Given the description of an element on the screen output the (x, y) to click on. 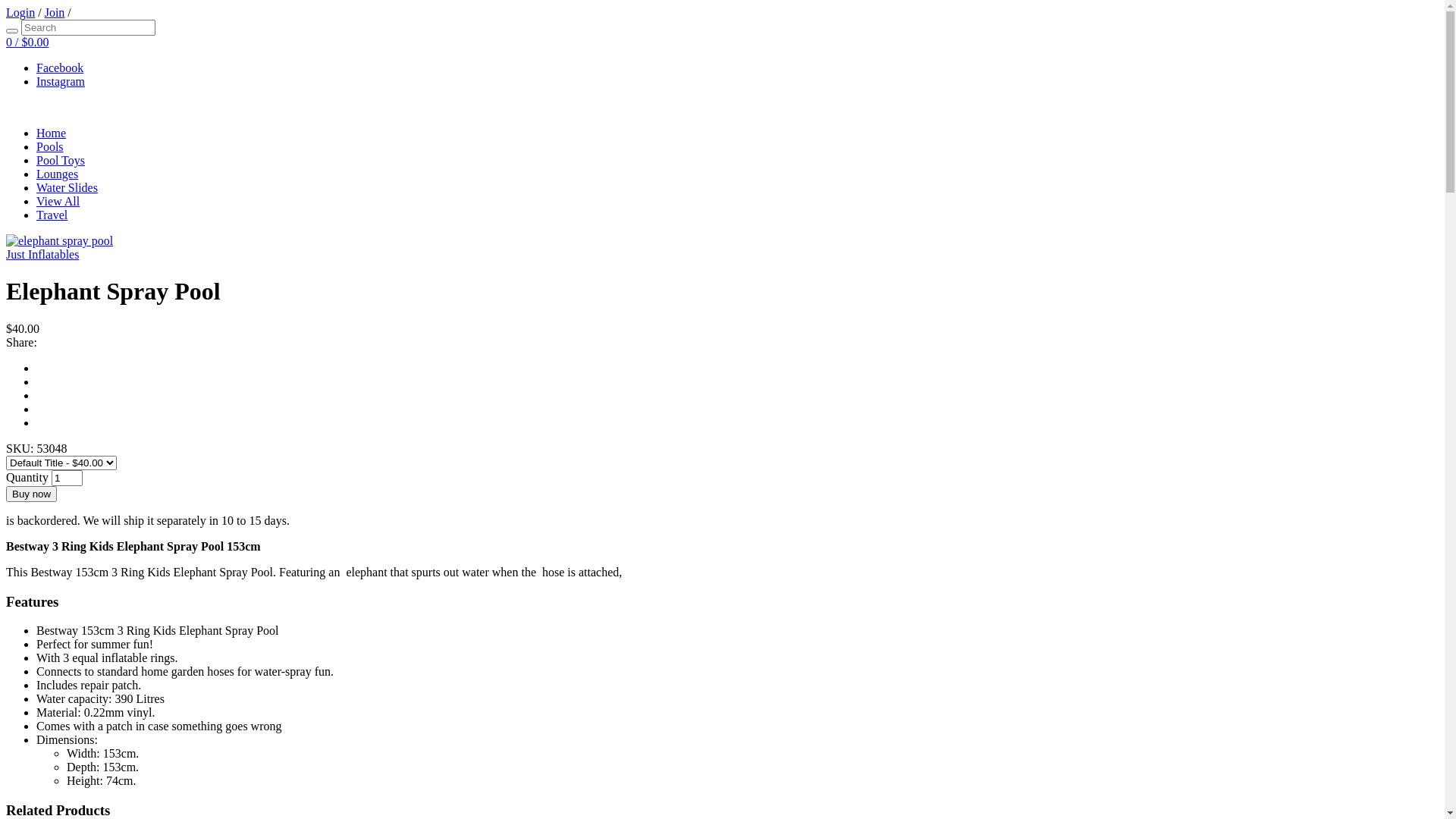
Home Element type: text (50, 132)
Instagram Element type: text (60, 81)
View All Element type: text (57, 200)
Buy now Element type: text (31, 494)
Lounges Element type: text (57, 173)
Facebook Element type: text (59, 67)
Water Slides Element type: text (66, 187)
Pools Element type: text (49, 146)
Just Inflatables Element type: text (42, 253)
Join Element type: text (54, 12)
0 / $0.00 Element type: text (27, 41)
elephant spray pool Element type: hover (59, 240)
Login Element type: text (20, 12)
Travel Element type: text (51, 214)
Pool Toys Element type: text (60, 159)
